Given the description of an element on the screen output the (x, y) to click on. 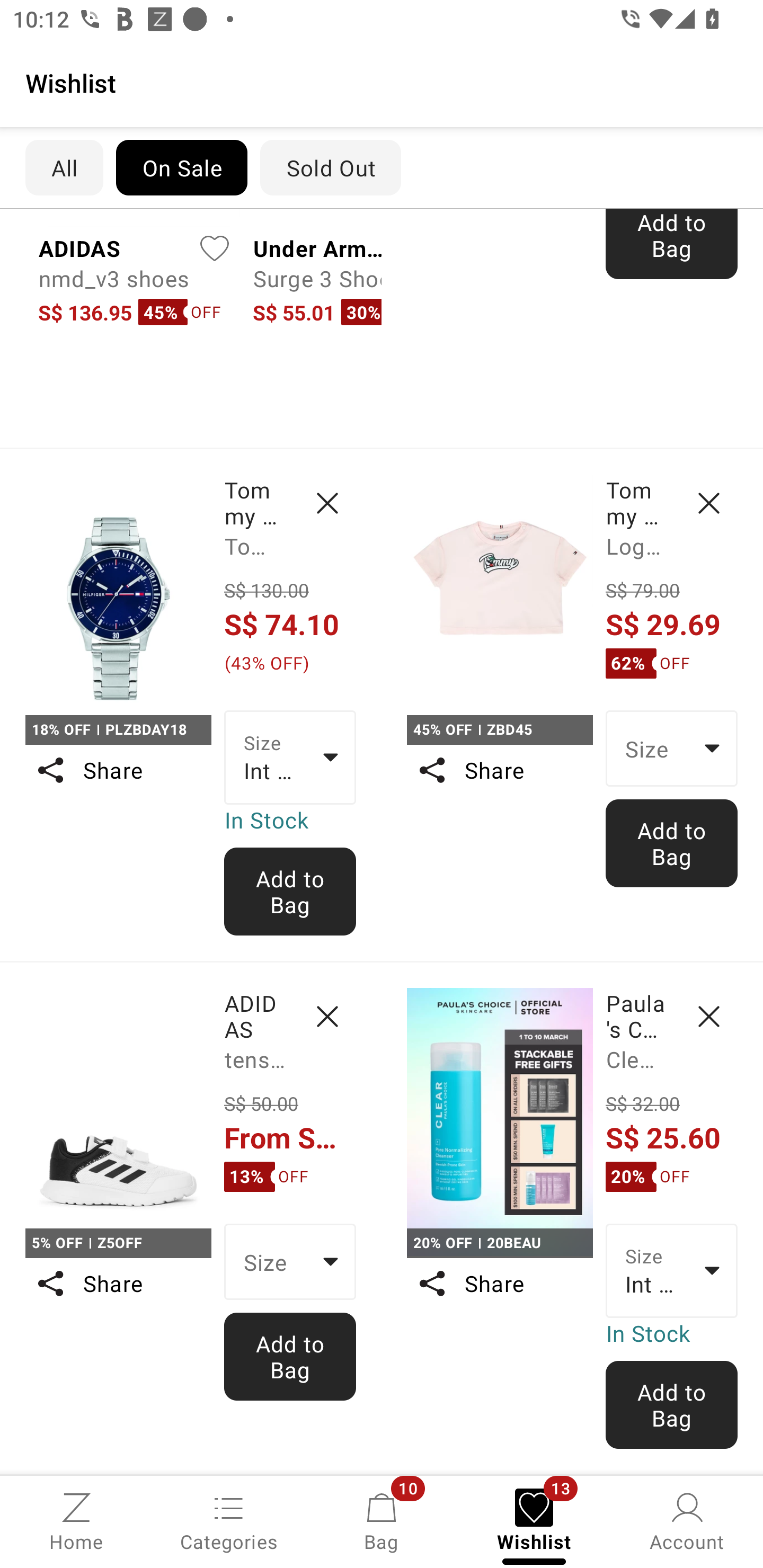
Wishlist (381, 82)
All (64, 167)
On Sale (181, 167)
Sold Out (330, 167)
Add to Bag (671, 243)
Size Int One Size (290, 757)
Size (671, 748)
Share (118, 769)
Share (499, 769)
Add to Bag (671, 843)
Add to Bag (290, 892)
Size (290, 1261)
Size Int 177 ml (671, 1270)
Share (118, 1283)
Share (499, 1283)
Add to Bag (290, 1356)
Add to Bag (671, 1404)
Home (76, 1519)
Categories (228, 1519)
Bag, 10 new notifications Bag (381, 1519)
Account (686, 1519)
